Given the description of an element on the screen output the (x, y) to click on. 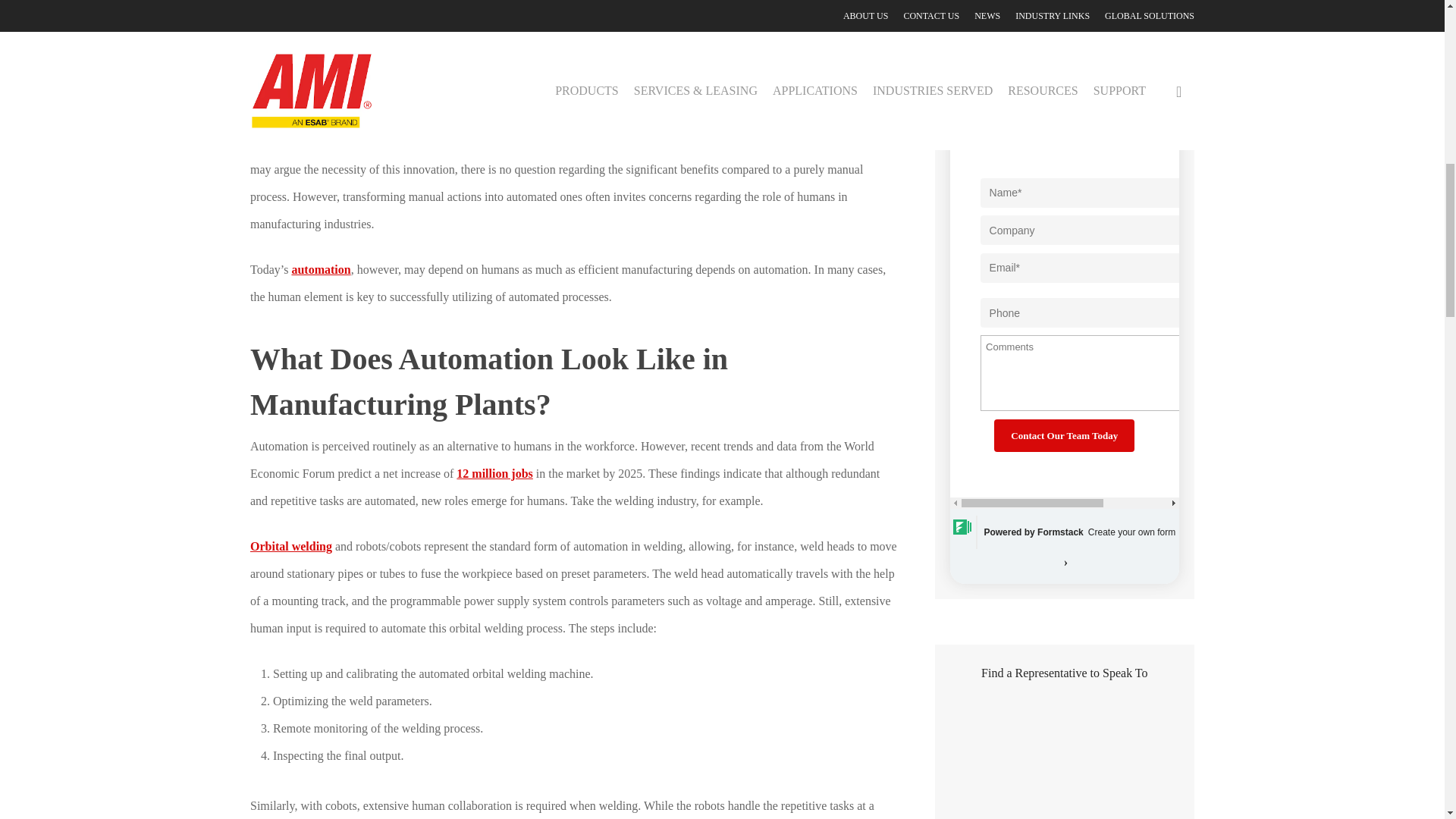
Formstack (1118, 547)
Formstack (1020, 532)
